Given the description of an element on the screen output the (x, y) to click on. 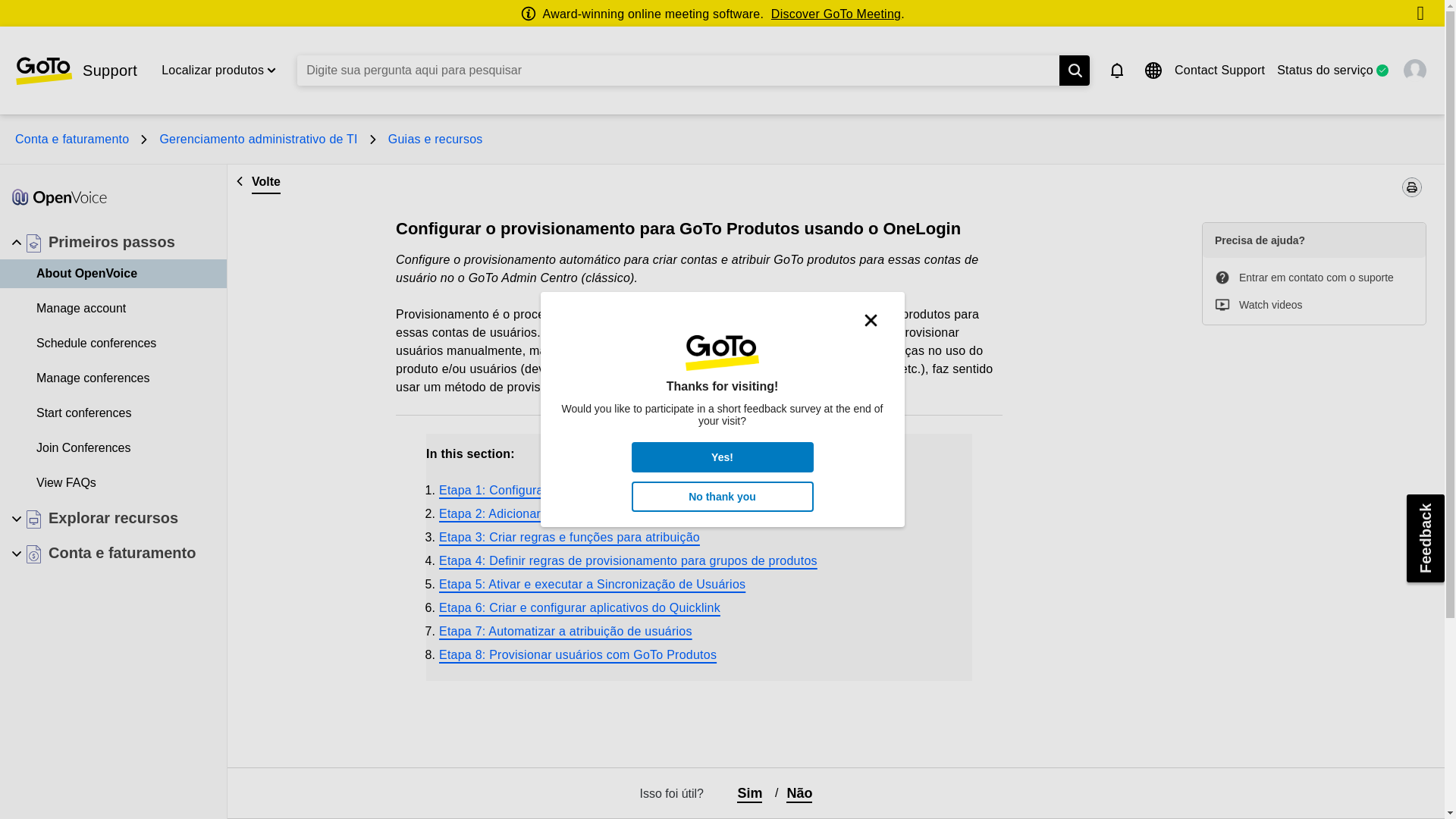
Info icon. (530, 13)
Discover GoTo Meeting (836, 13)
Contact Support (1219, 70)
Close this banner (1419, 13)
Support (75, 70)
Support (75, 70)
Localizar produtos (212, 70)
Localizar produtos (212, 70)
